Given the description of an element on the screen output the (x, y) to click on. 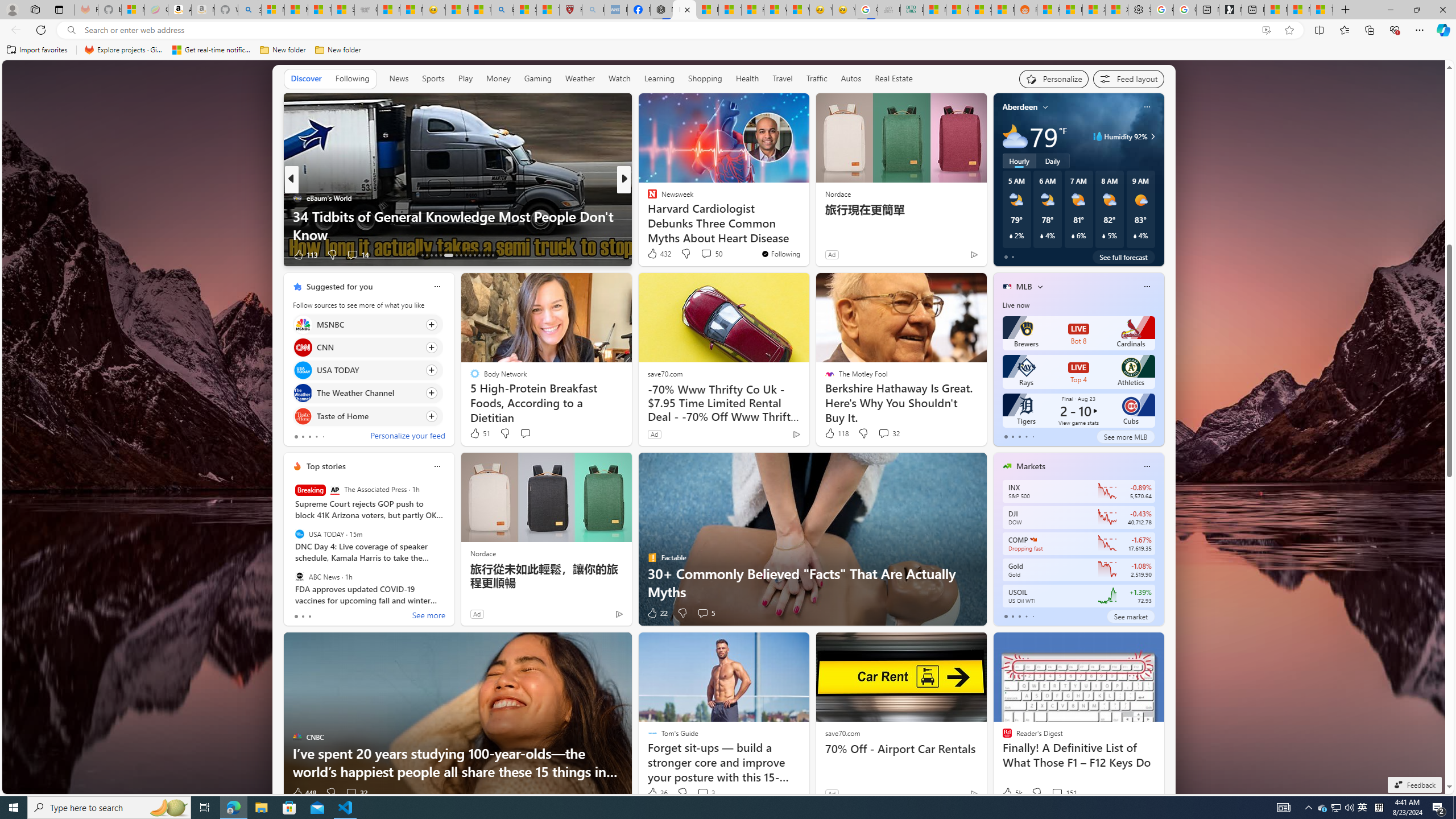
Stocks - MSN (979, 9)
7 Tips for Losing Weight After Age 50 (807, 234)
USA TODAY (299, 533)
Taste of Home (302, 416)
113 Like (304, 254)
38 Things That Are Basically Adulting Cheat Codes (807, 234)
tab-1 (1012, 616)
Nordace - Nordace Siena Is Not An Ordinary Backpack (661, 9)
Bored Panda (647, 215)
182 Like (654, 254)
